Given the description of an element on the screen output the (x, y) to click on. 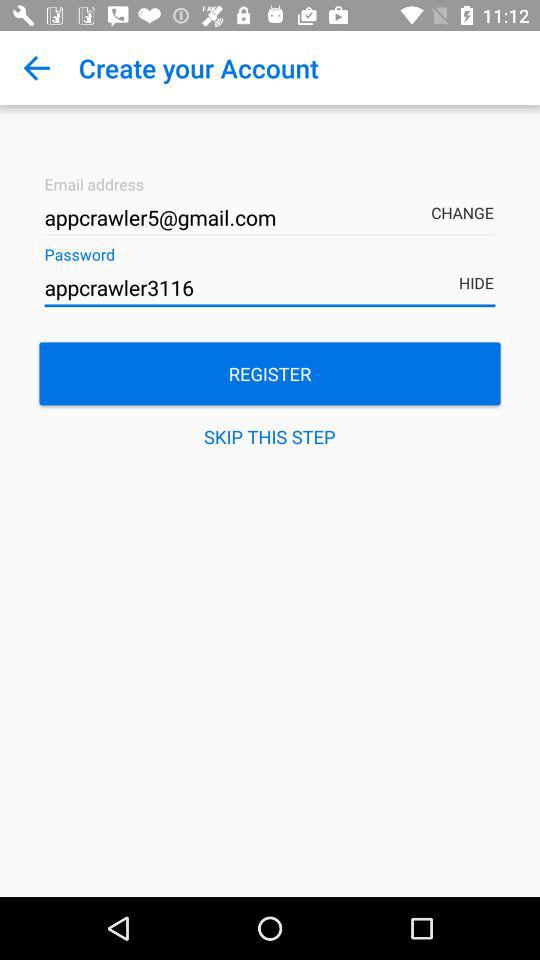
jump to the appcrawler3116 item (269, 288)
